Given the description of an element on the screen output the (x, y) to click on. 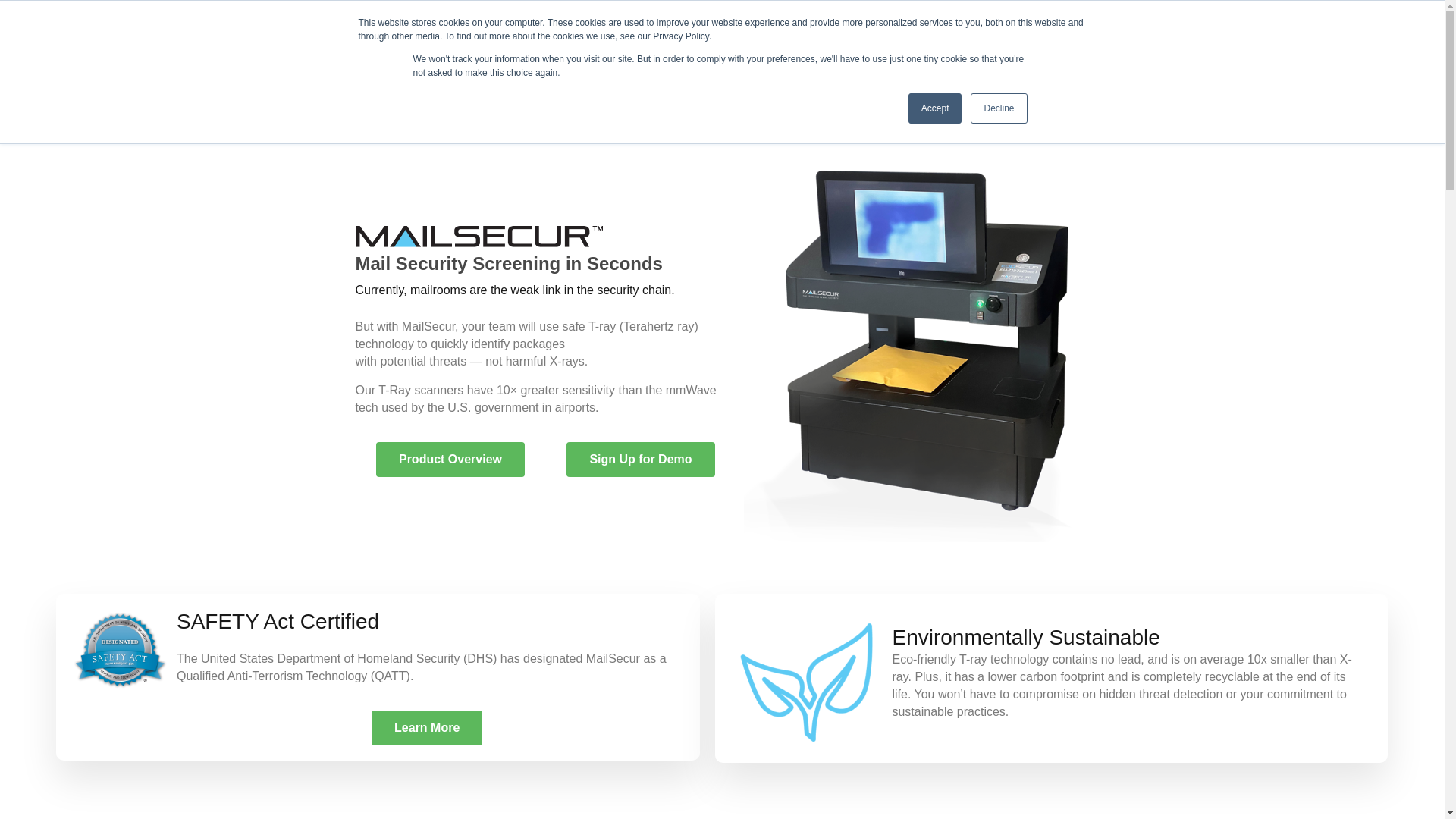
Accept (935, 108)
Resources (724, 95)
Industries (607, 95)
About (832, 95)
Decline (998, 108)
Products (495, 95)
